Given the description of an element on the screen output the (x, y) to click on. 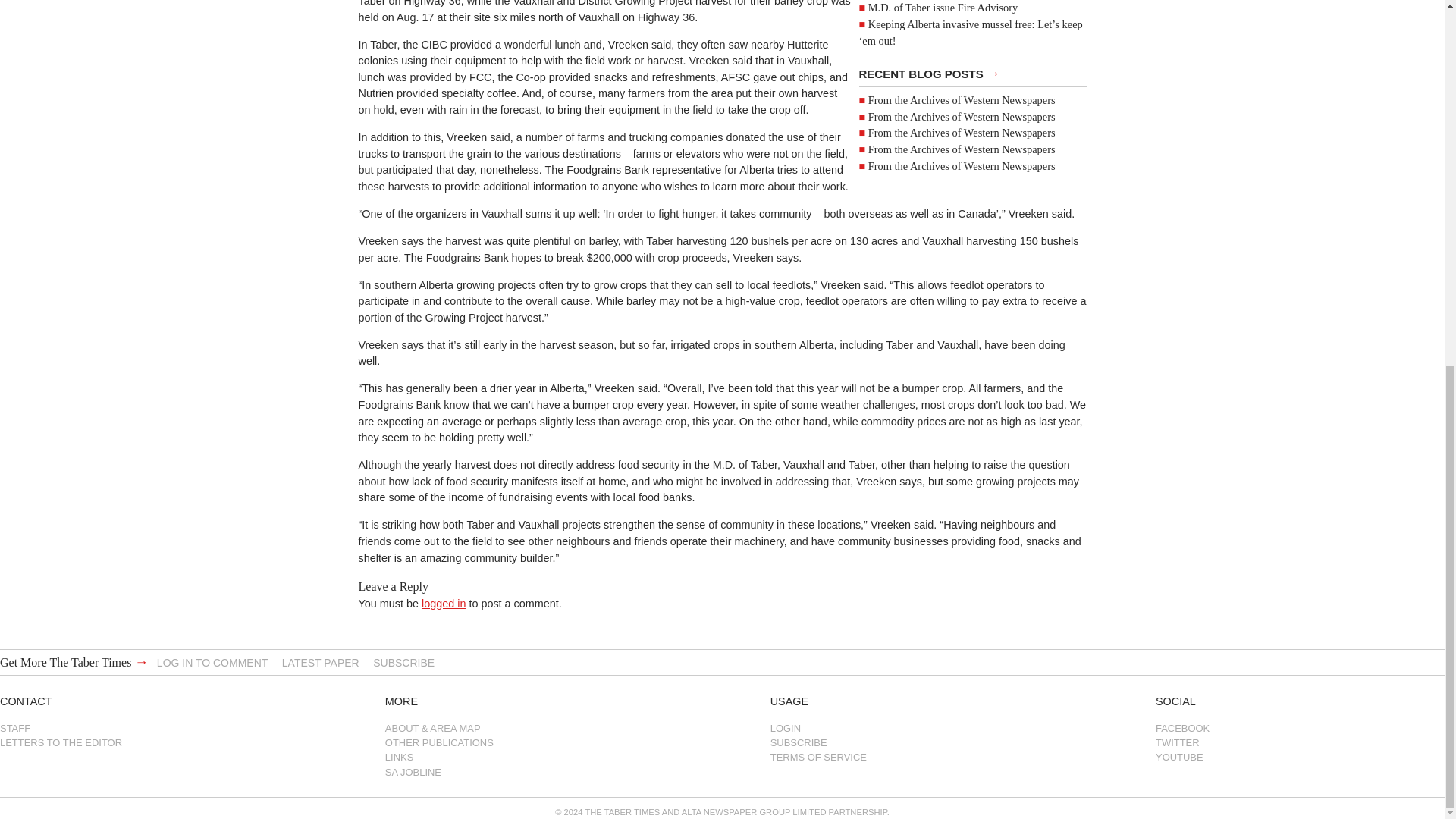
From the Archives of Western Newspapers (961, 188)
From the Archives of Western Newspapers (961, 205)
From the Archives of Western Newspapers (961, 155)
From the Archives of Western Newspapers (961, 140)
From the Archives of Western Newspapers (961, 173)
